Given the description of an element on the screen output the (x, y) to click on. 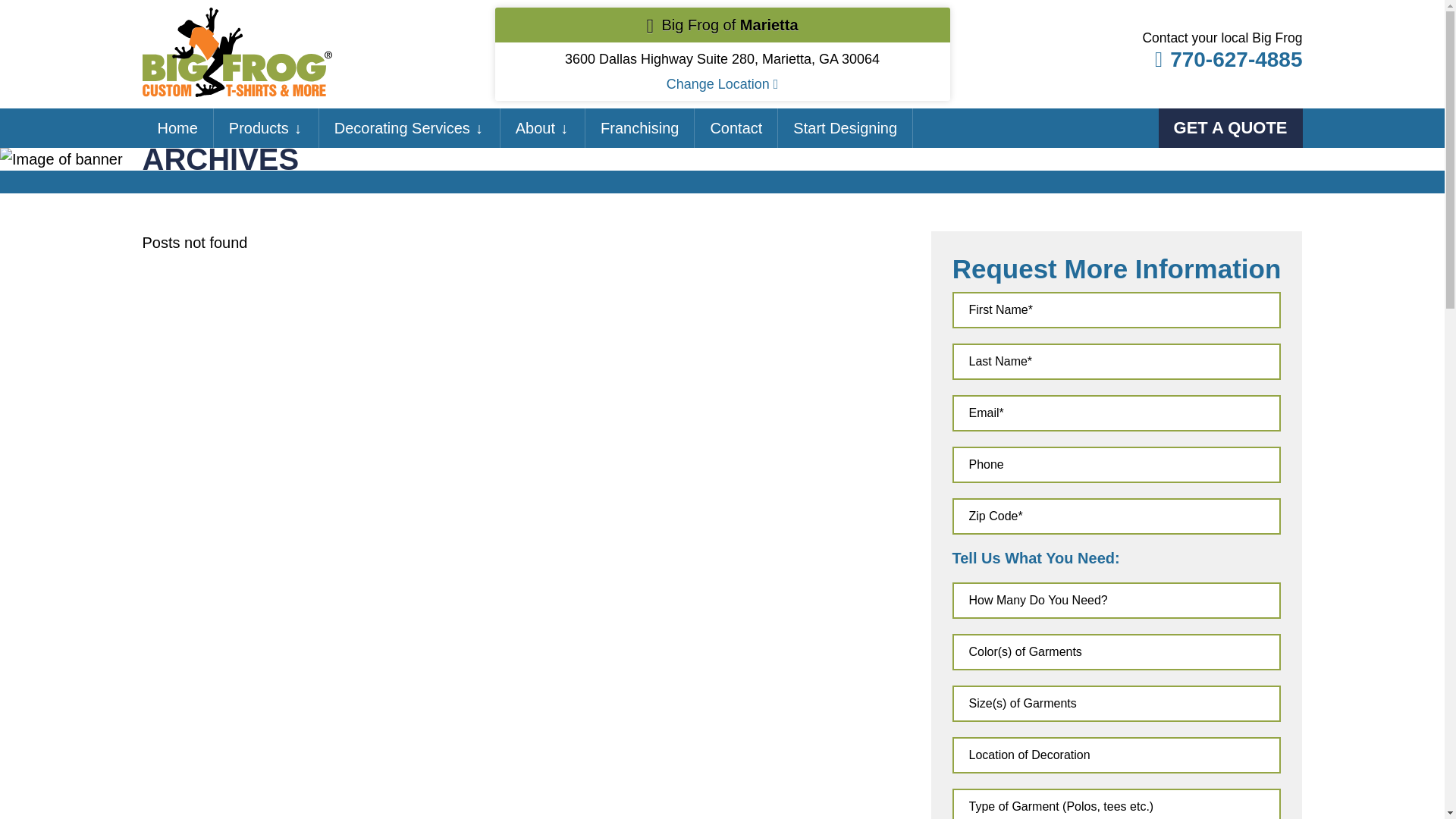
GET A QUOTE (1230, 128)
Start Designing (844, 128)
Decorating Services (402, 128)
Home (177, 128)
Change Location (722, 83)
Franchising (638, 128)
About (534, 128)
770-627-4885 (1221, 59)
Big Frog logo, custom t-shirts and more, homepage (236, 18)
Products (258, 128)
